Given the description of an element on the screen output the (x, y) to click on. 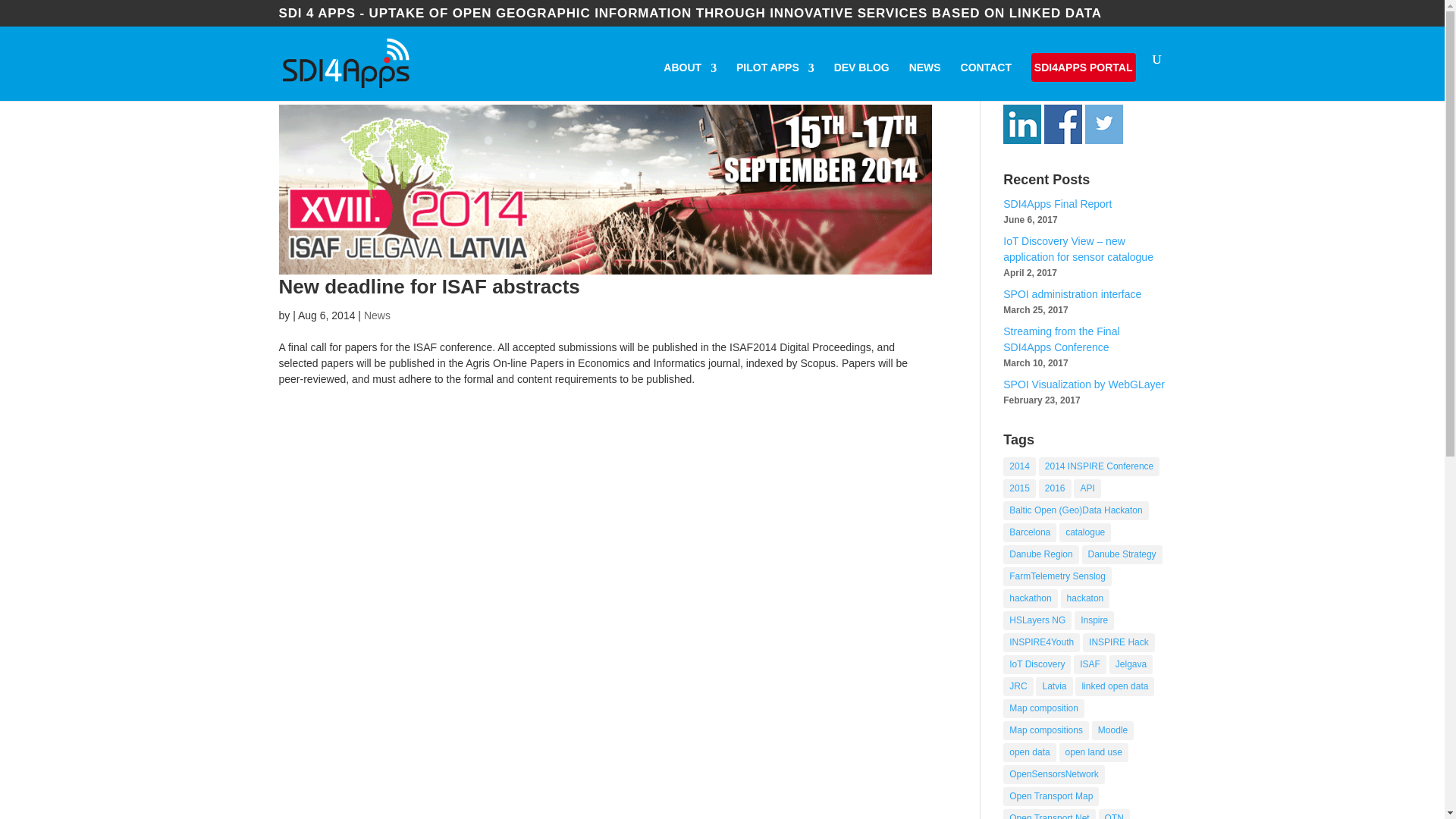
DEV BLOG (861, 80)
CONTACT (985, 80)
SDI4APPS PORTAL (1082, 67)
ABOUT (689, 80)
PILOT APPS (774, 80)
